Given the description of an element on the screen output the (x, y) to click on. 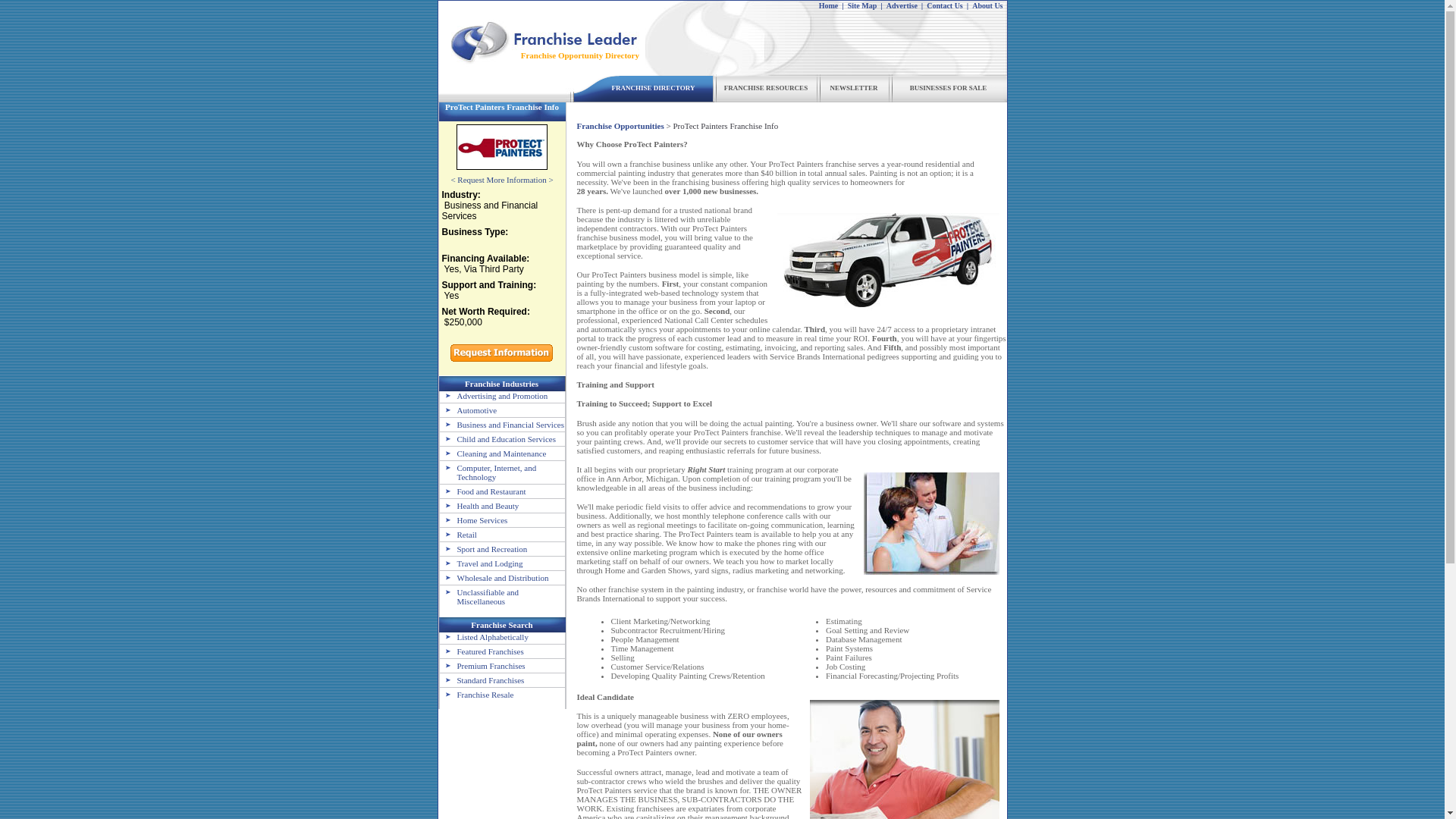
Child and Education Services (497, 438)
Home (828, 5)
Retail (458, 533)
Featured Franchises (481, 651)
Health and Beauty (479, 505)
Cleaning and Maintenance (493, 452)
Advertise (901, 5)
Unclassifiable and Miscellaneous (479, 597)
FRANCHISE DIRECTORY (653, 87)
Home Services (473, 519)
Travel and Lodging (480, 563)
About Us (987, 5)
Standard Franchises (481, 679)
NEWSLETTER (853, 87)
Listed Alphabetically (483, 636)
